Given the description of an element on the screen output the (x, y) to click on. 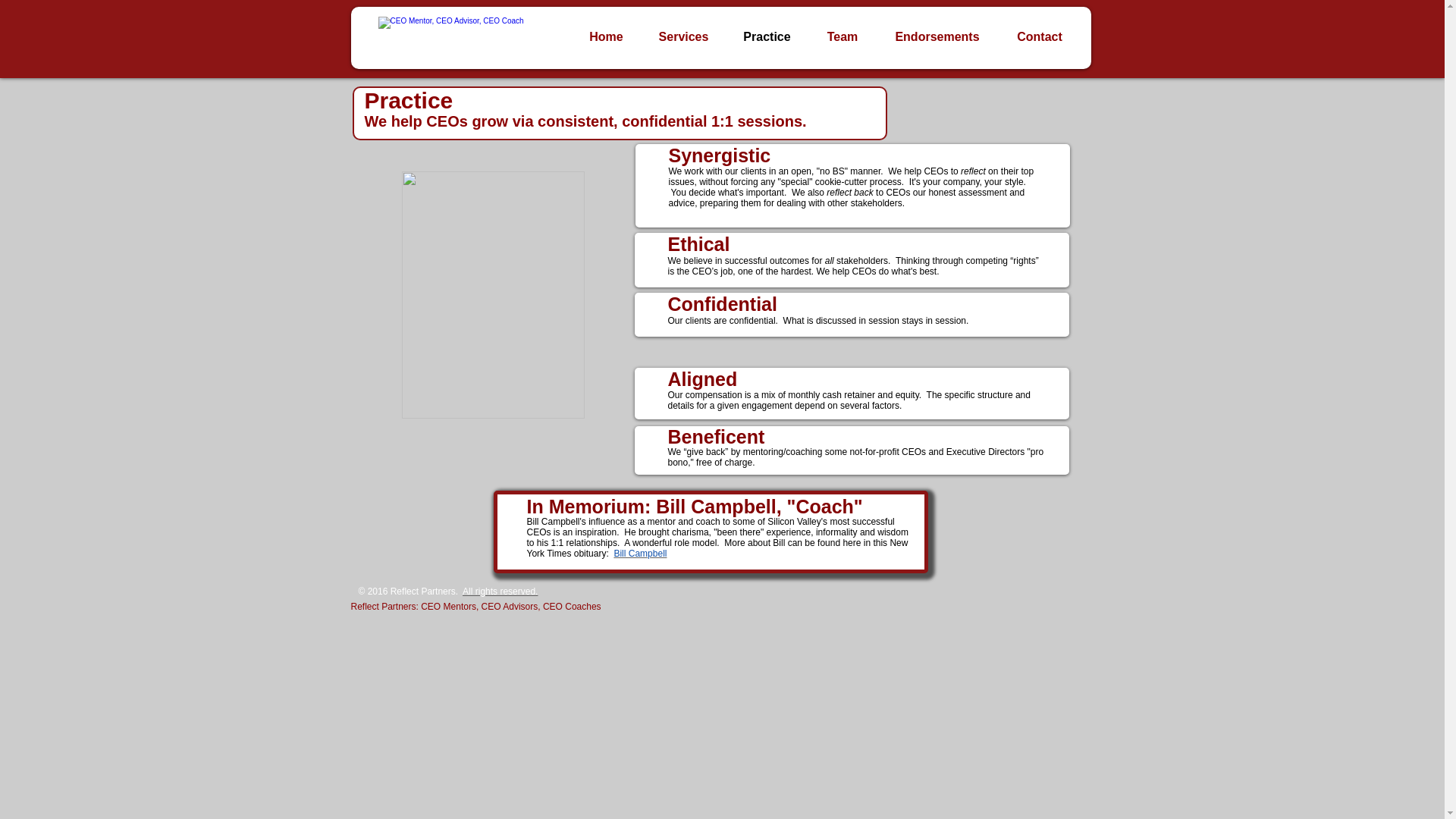
Services (683, 36)
Contact (1038, 36)
Team (842, 36)
Endorsements (937, 36)
All rights reserved. (500, 591)
Bill Campbell (639, 552)
Home (606, 36)
Practice (766, 36)
